Given the description of an element on the screen output the (x, y) to click on. 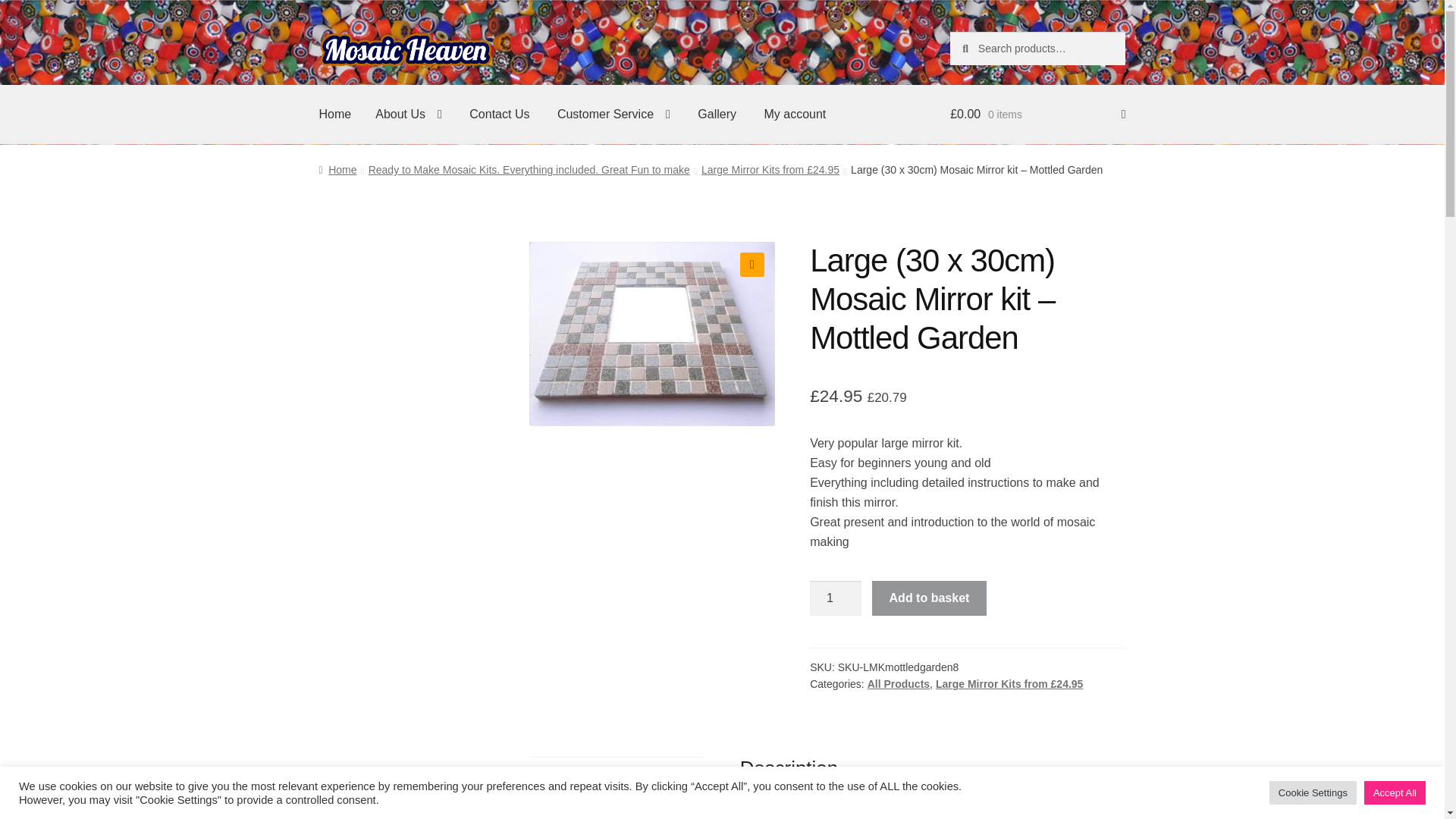
Gallery (716, 114)
Home (337, 169)
My account (795, 114)
1 (835, 597)
About Us (408, 114)
View your shopping basket (1037, 114)
Home (335, 114)
Contact Us (499, 114)
Customer Service (613, 114)
